Given the description of an element on the screen output the (x, y) to click on. 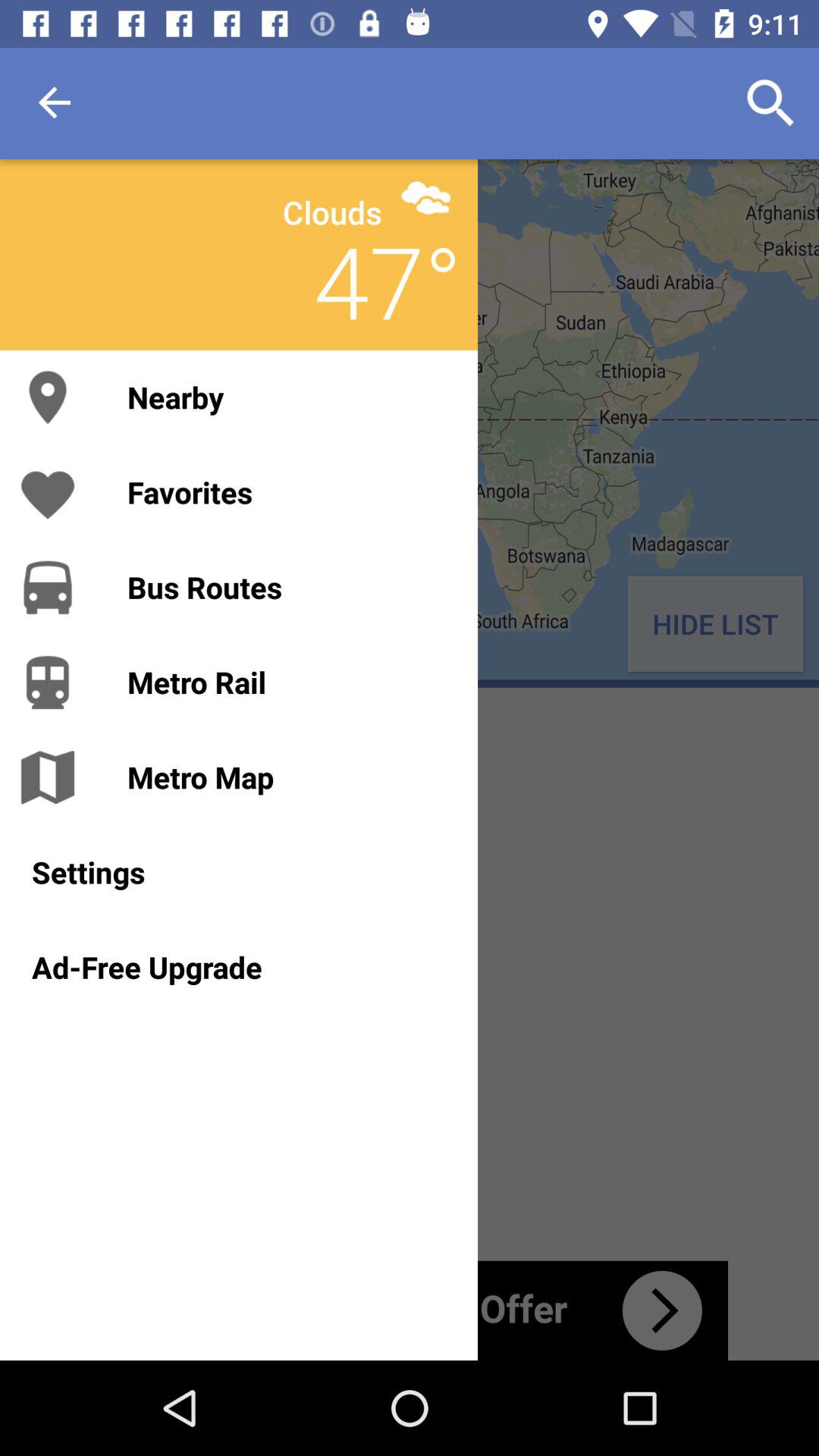
tap the metro rail (286, 682)
